Given the description of an element on the screen output the (x, y) to click on. 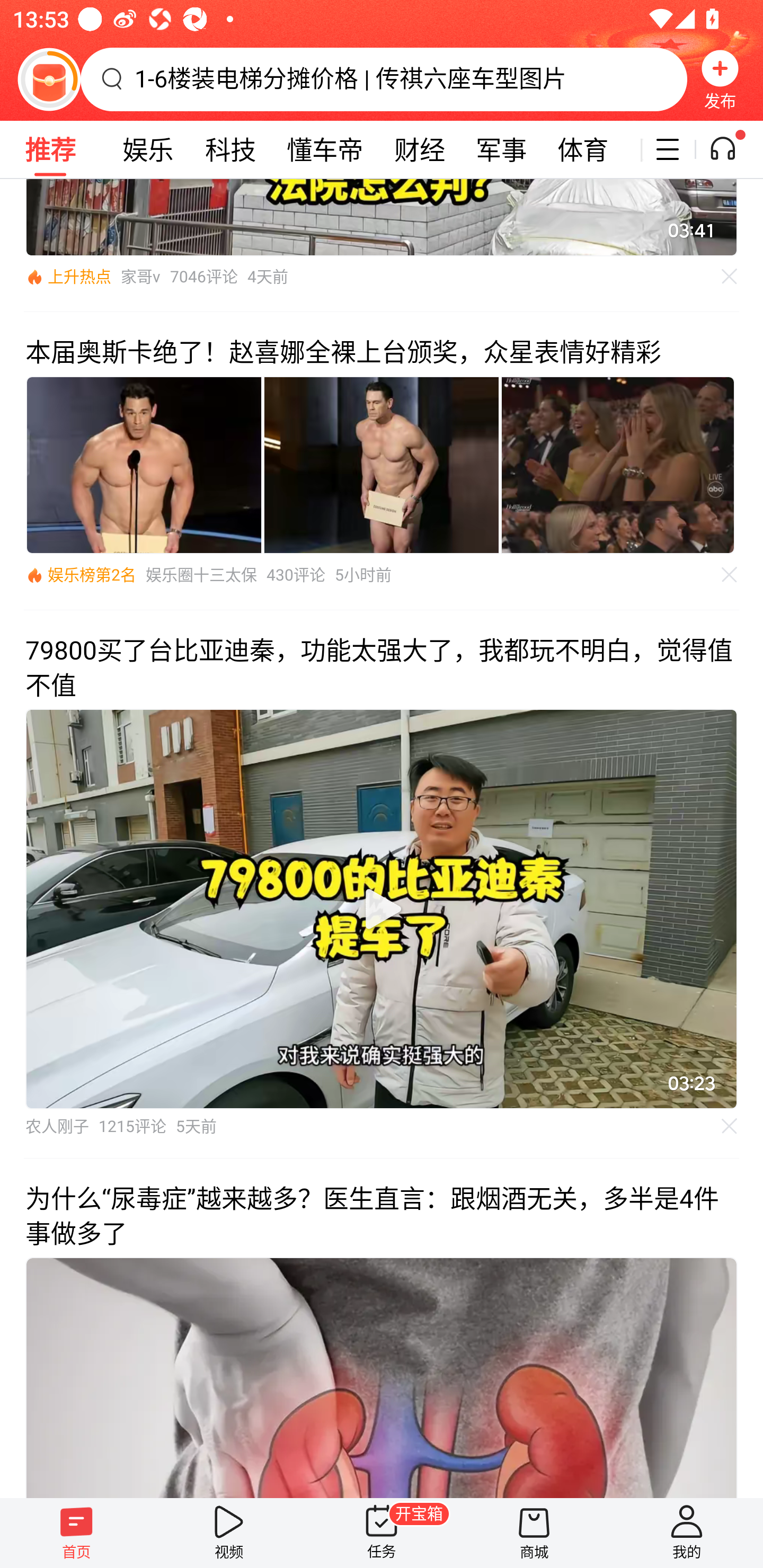
阅读赚金币 (48, 79)
1-6楼装电梯分摊价格 | 传祺六座车型图片 搜索框，1-6楼装电梯分摊价格 | 传祺六座车型图片 (383, 79)
发布 发布，按钮 (720, 78)
推荐 (49, 149)
娱乐 (147, 149)
科技 (230, 149)
懂车帝 (324, 149)
财经 (419, 149)
军事 (500, 149)
体育 (582, 149)
听一听开关 (732, 149)
不感兴趣 (729, 275)
三张内容图片 内容图片 内容图片 内容图片 (381, 465)
内容图片 (381, 465)
内容图片 (617, 465)
不感兴趣 (729, 574)
播放视频 视频播放器，双击屏幕打开播放控制 (381, 908)
播放视频 (381, 908)
不感兴趣 (729, 1125)
为什么“尿毒症”越来越多？医生直言：跟烟酒无关，多半是4件事做多了 (381, 1327)
首页 (76, 1532)
视频 (228, 1532)
任务 开宝箱 (381, 1532)
商城 (533, 1532)
我的 (686, 1532)
